Given the description of an element on the screen output the (x, y) to click on. 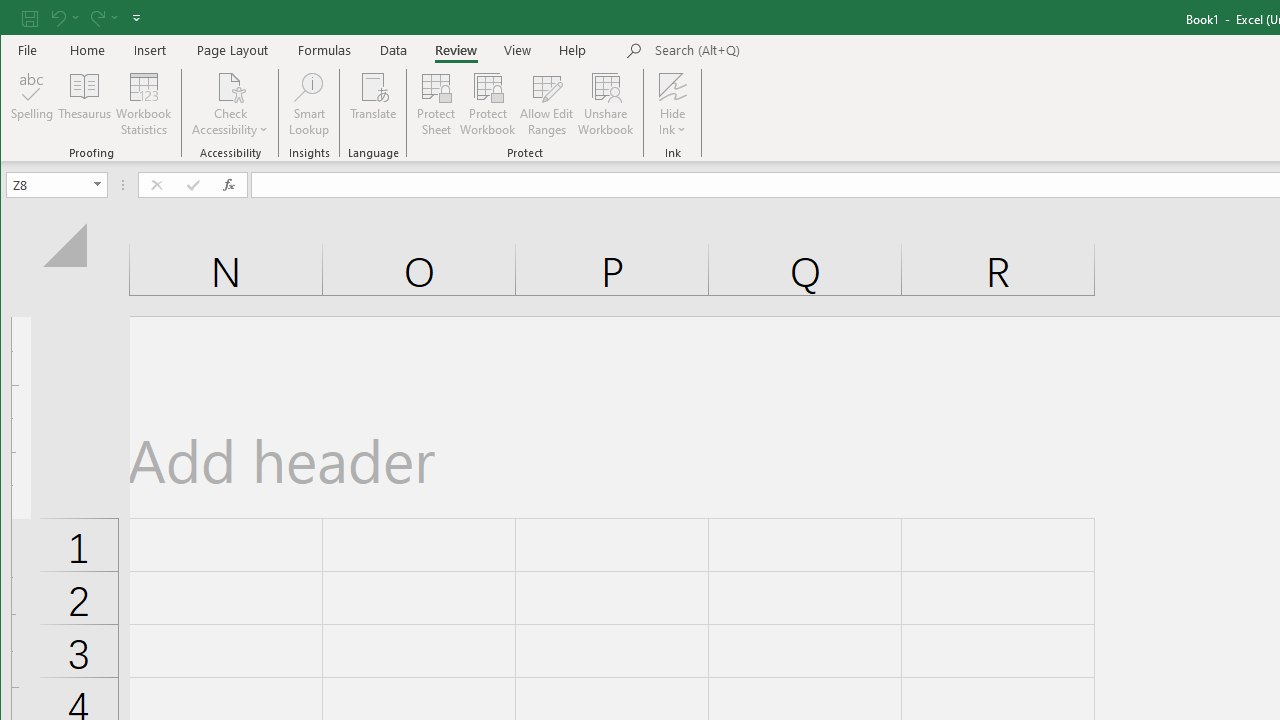
Protect Workbook... (488, 104)
Smart Lookup (308, 104)
Translate (373, 104)
Protect Sheet... (436, 104)
